Given the description of an element on the screen output the (x, y) to click on. 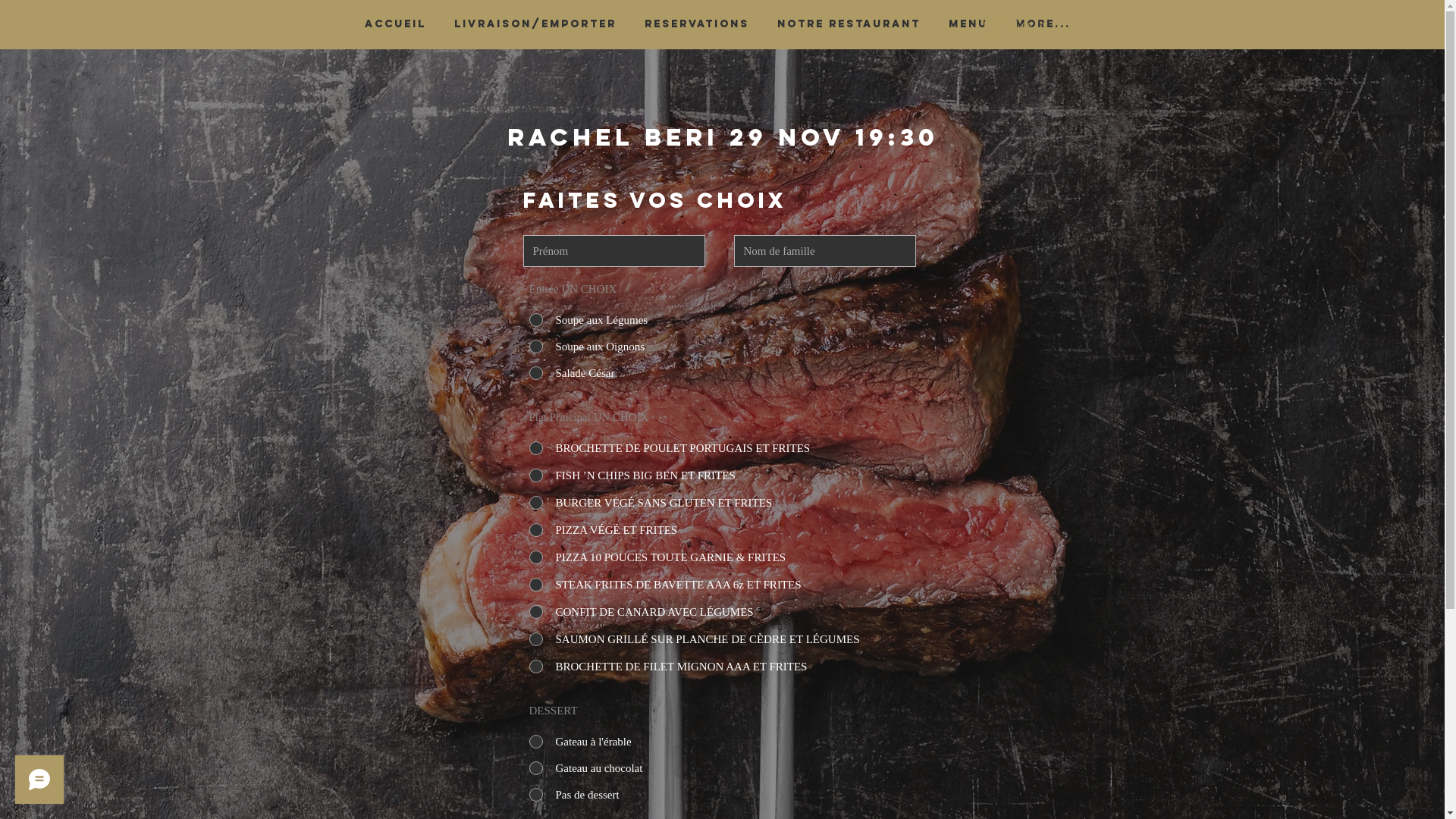
Log In Element type: text (1014, 23)
RESERVATIONS Element type: text (696, 23)
Conversion Popup Element type: hover (722, 15)
Livraison/Emporter Element type: text (534, 23)
ACCUEIL Element type: text (394, 23)
NOTRE RESTAURANT Element type: text (848, 23)
Conversion Popup Element type: hover (723, 404)
MENU Element type: text (967, 23)
